Given the description of an element on the screen output the (x, y) to click on. 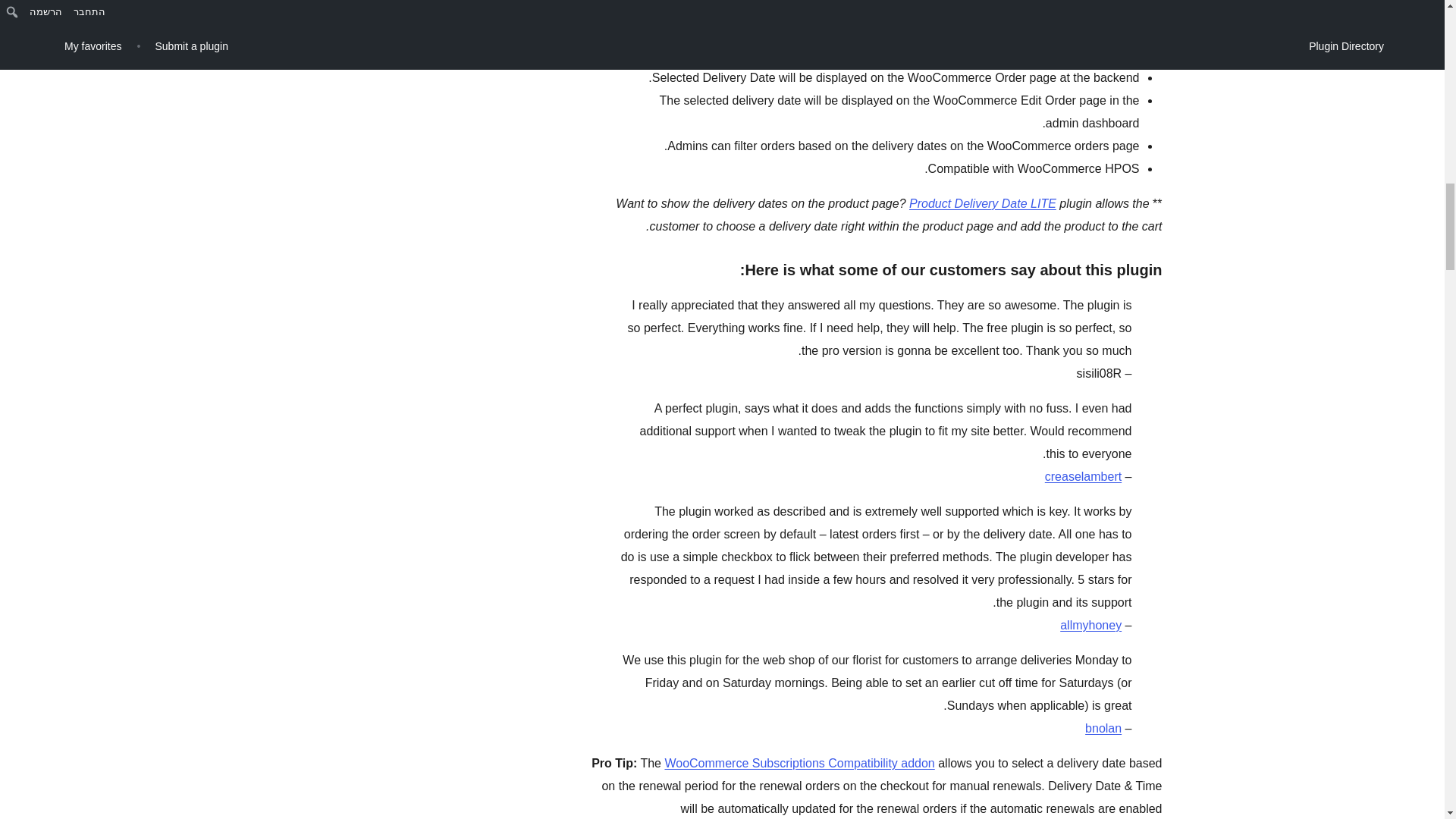
Product Delivery Date LITE (982, 203)
creaselambert (1083, 476)
